Given the description of an element on the screen output the (x, y) to click on. 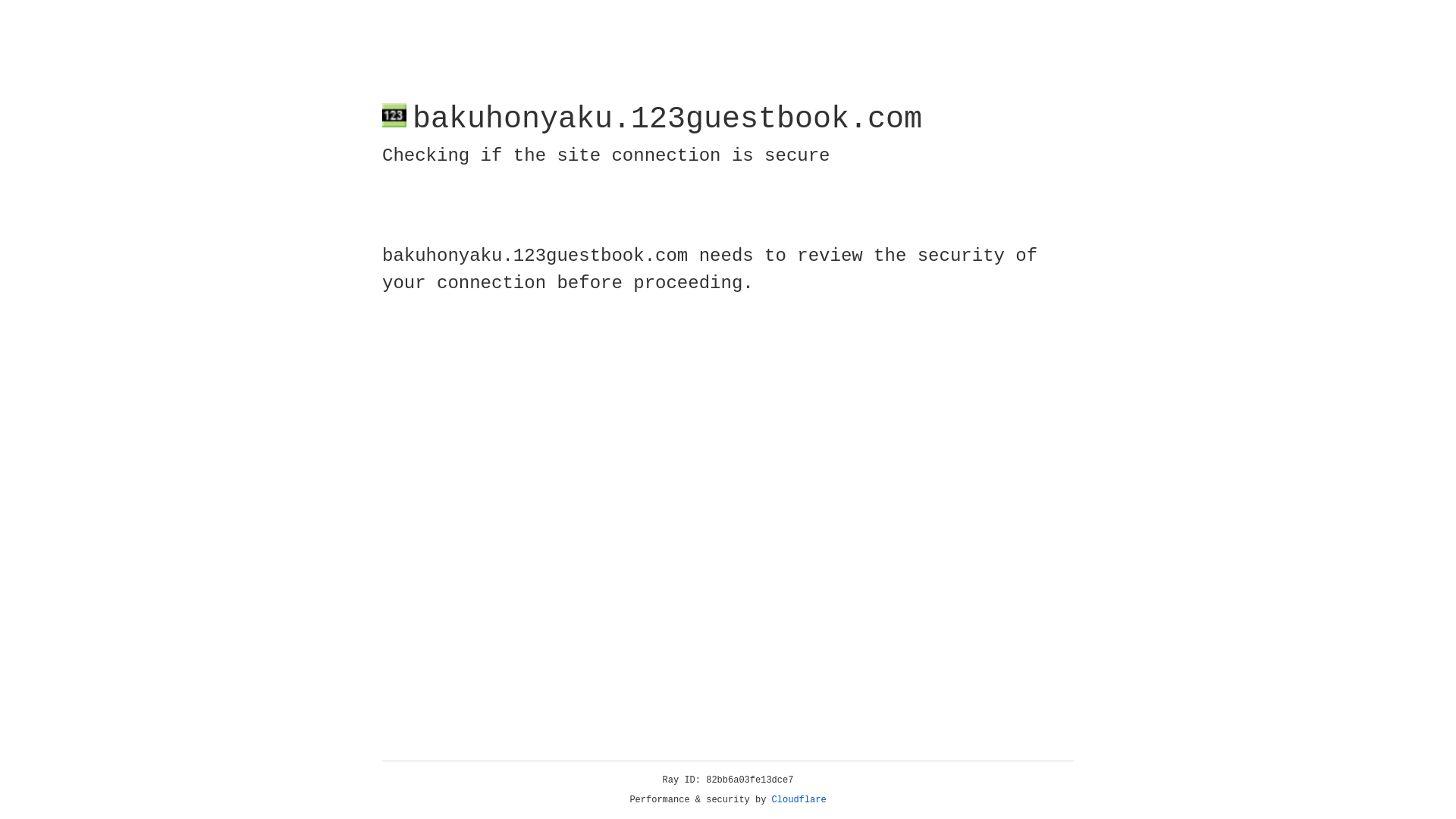
Cloudflare Element type: text (798, 799)
